Given the description of an element on the screen output the (x, y) to click on. 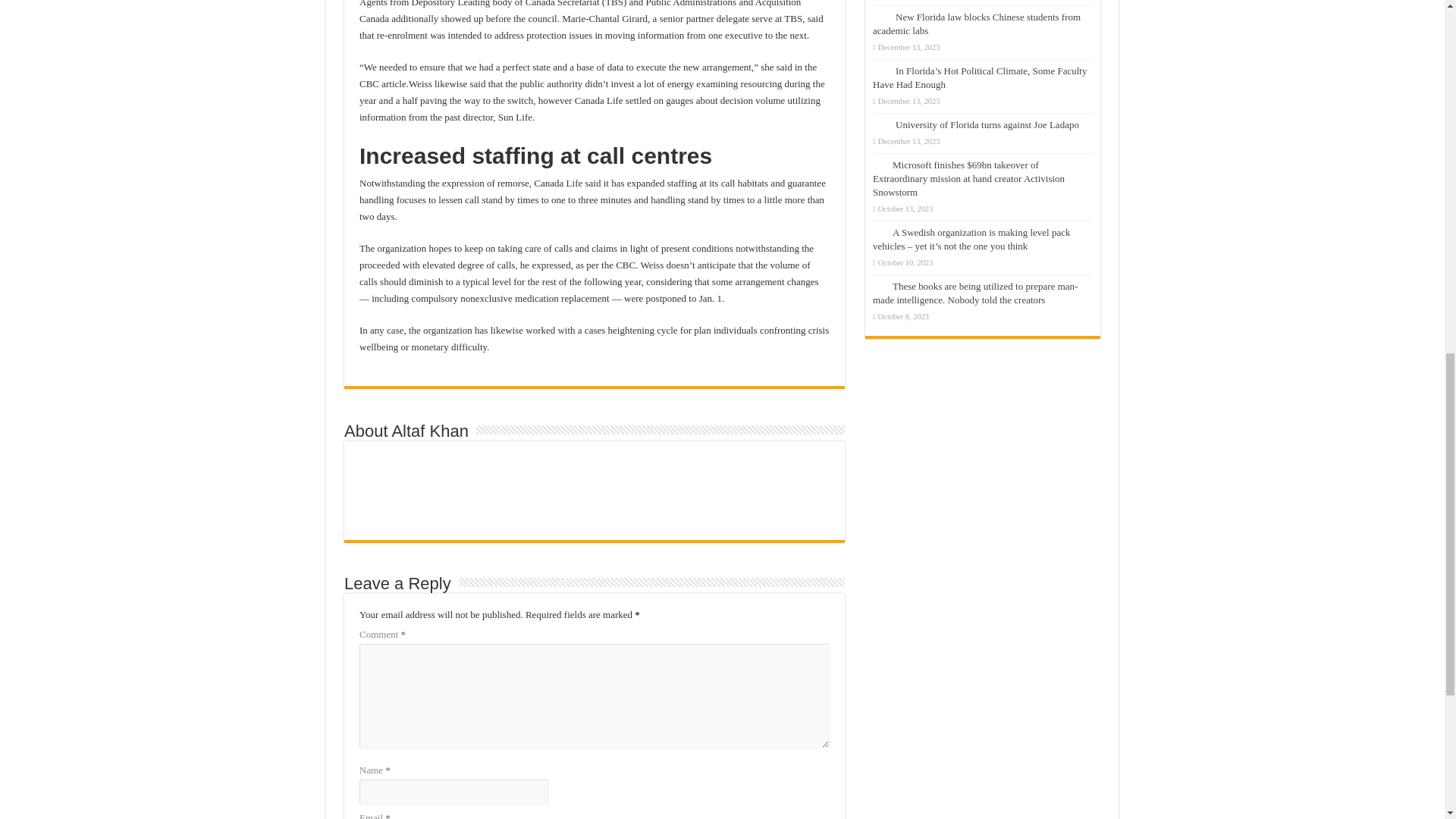
Scroll To Top (1421, 60)
New Florida law blocks Chinese students from academic labs (976, 23)
University of Florida turns against Joe Ladapo (986, 124)
